Given the description of an element on the screen output the (x, y) to click on. 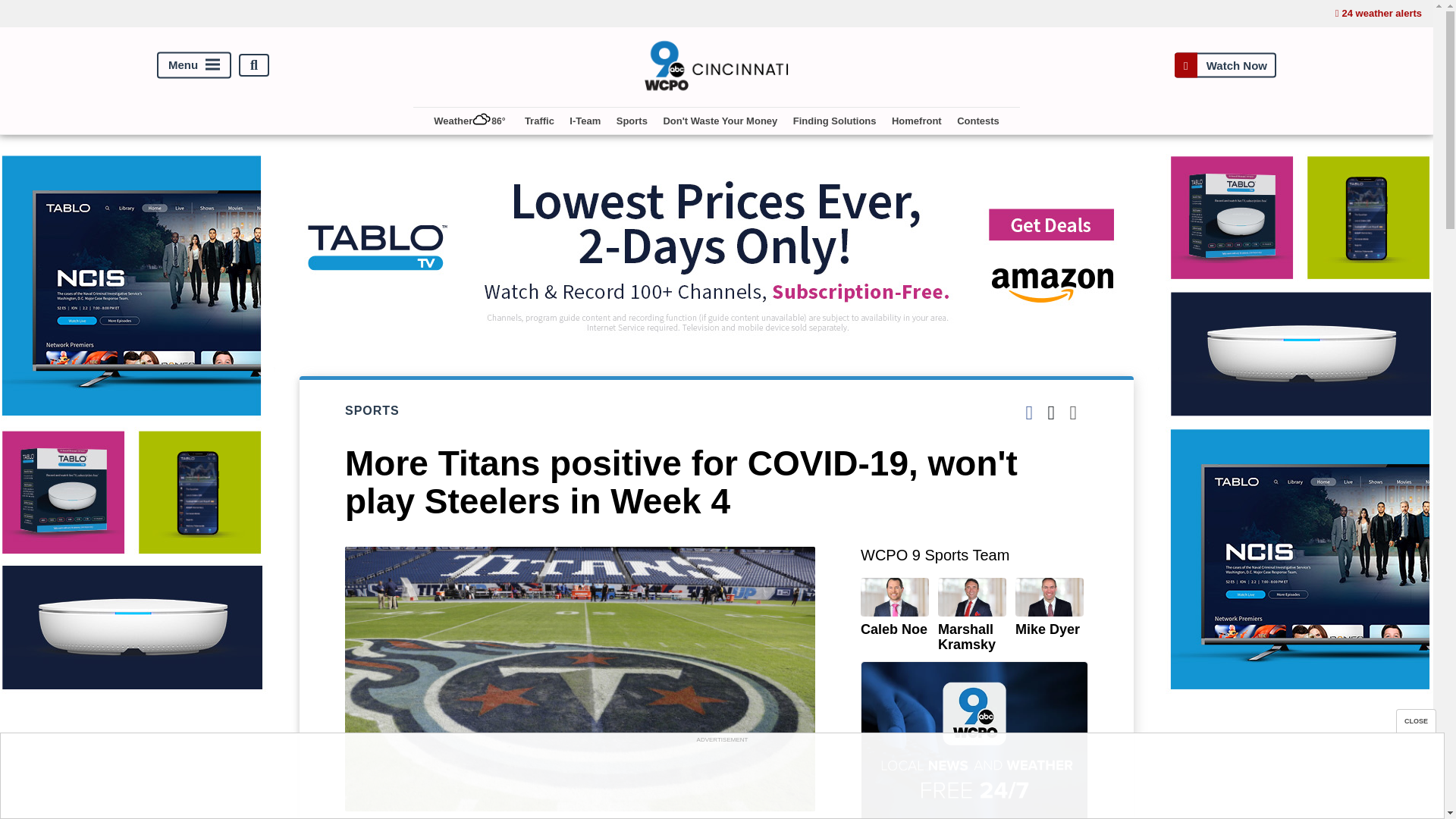
Finding Solutions (834, 120)
3rd party ad content (721, 780)
Sports (631, 120)
Contests (978, 120)
Menu (194, 65)
Don't Waste Your Money (719, 120)
Traffic (539, 120)
I-Team (585, 120)
Homefront (916, 120)
Watch Now (1224, 65)
